Given the description of an element on the screen output the (x, y) to click on. 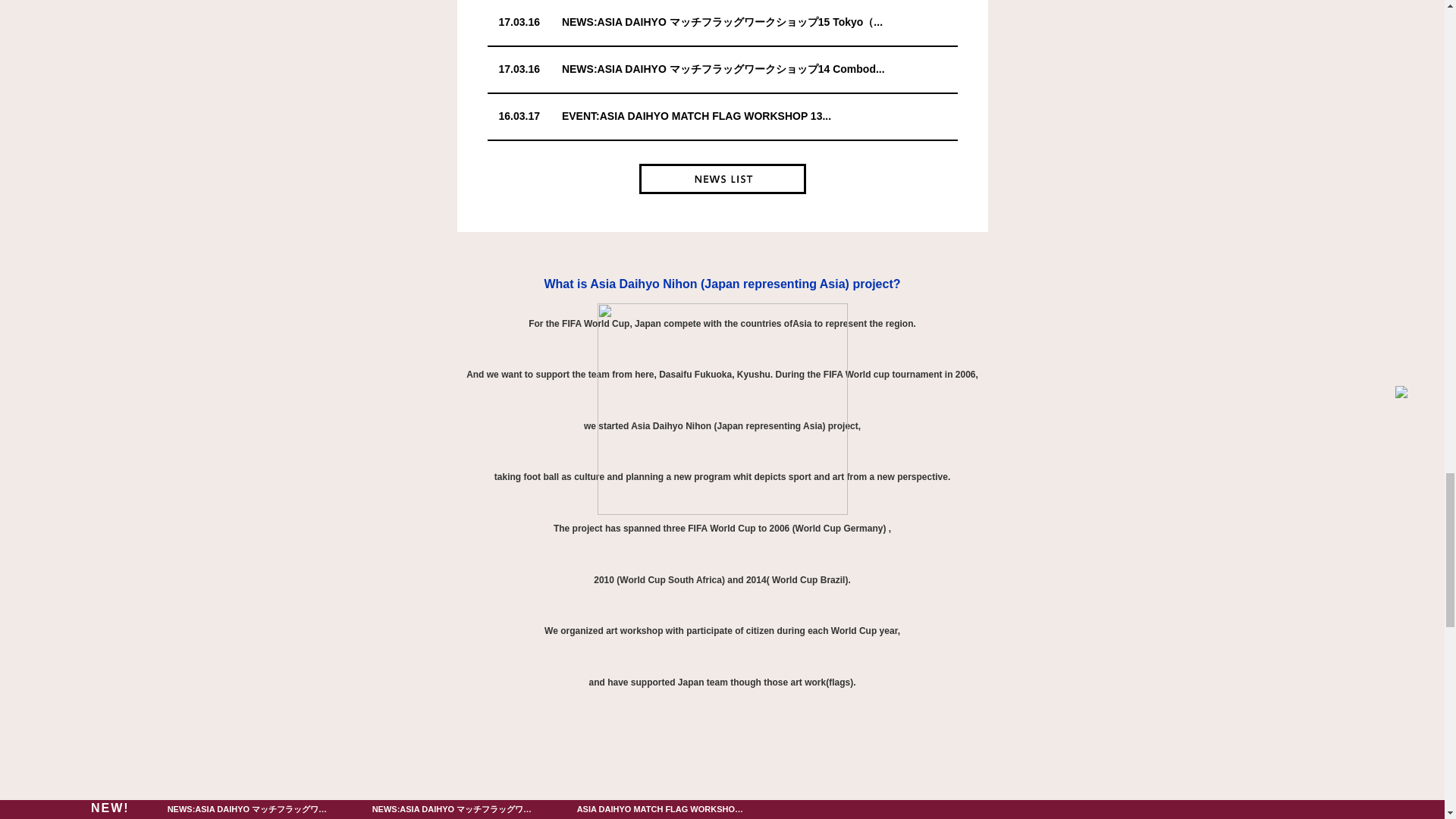
PROJECT (722, 738)
NEWS LIST (722, 178)
EVENT:ASIA DAIHYO MATCH FLAG WORKSHOP 13... (696, 115)
